Given the description of an element on the screen output the (x, y) to click on. 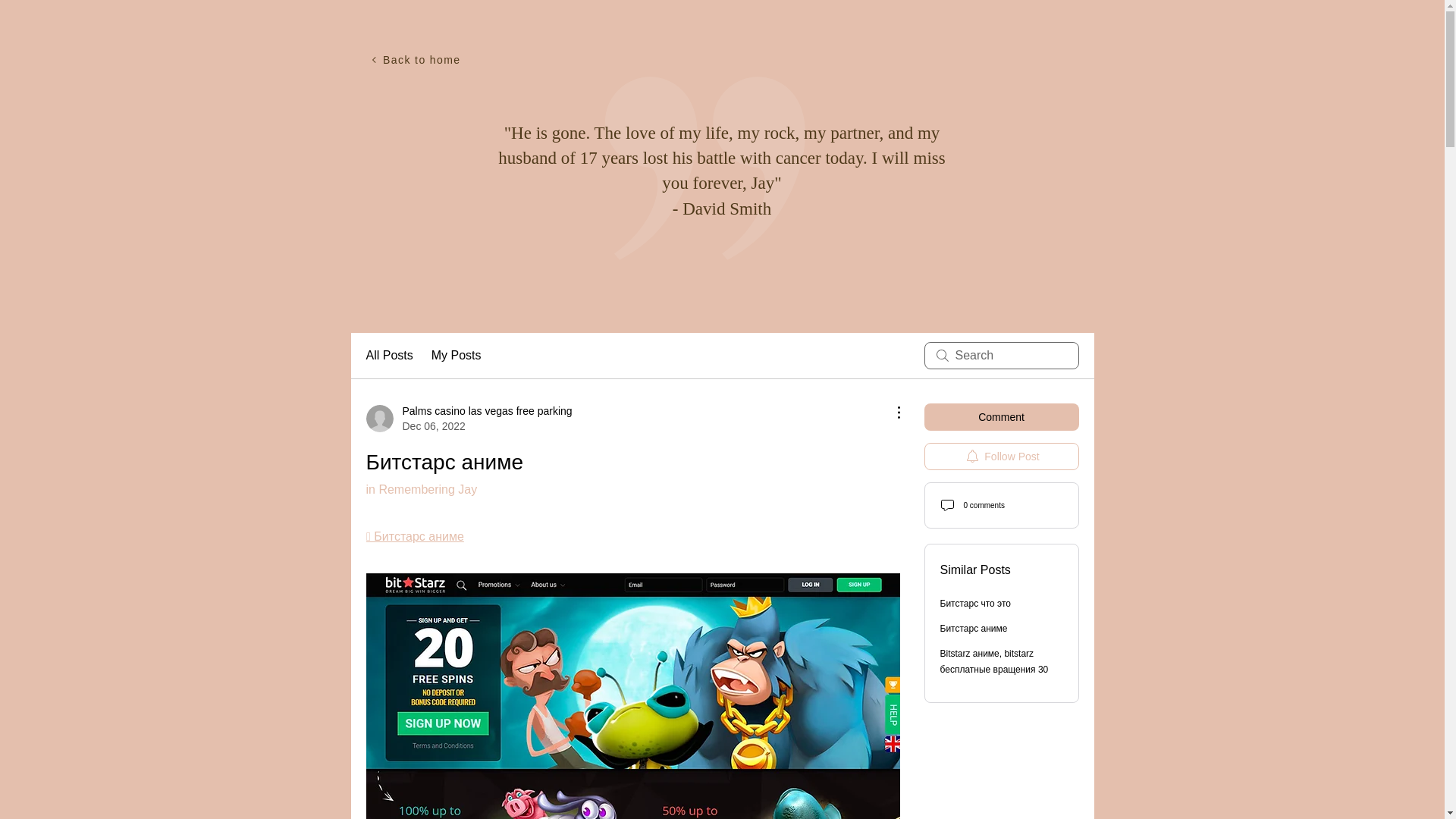
Back to home (407, 59)
Follow Post (468, 418)
in Remembering Jay (1000, 456)
All Posts (421, 489)
My Posts (388, 355)
Comment (455, 355)
